Given the description of an element on the screen output the (x, y) to click on. 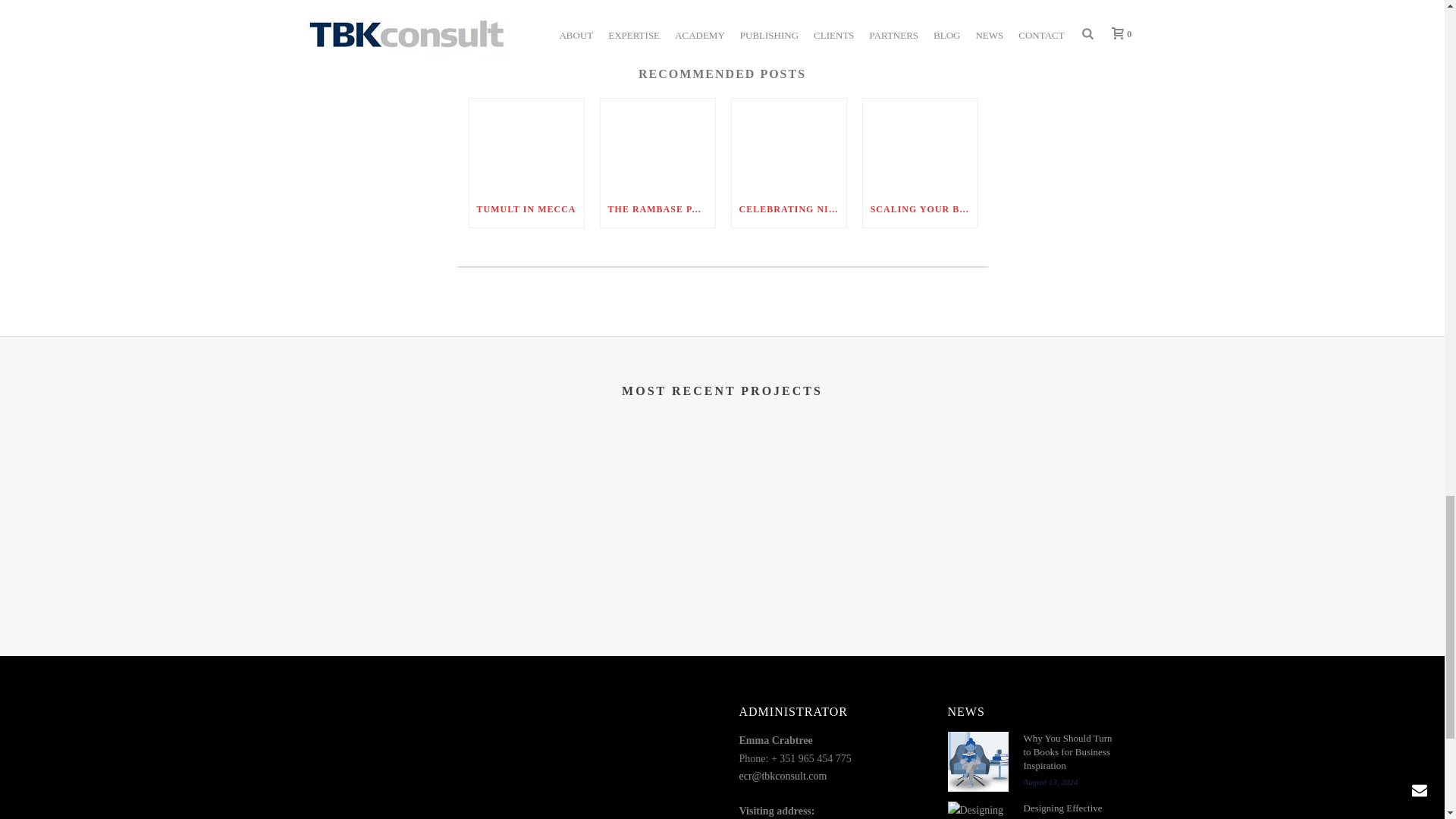
Follow me on Twitter (465, 9)
Scaling Your Business on a Shoestring (919, 144)
Get in touch with me via email (486, 9)
The RamBase Partner Opportunity (656, 144)
Tumult in Mecca (525, 144)
